Given the description of an element on the screen output the (x, y) to click on. 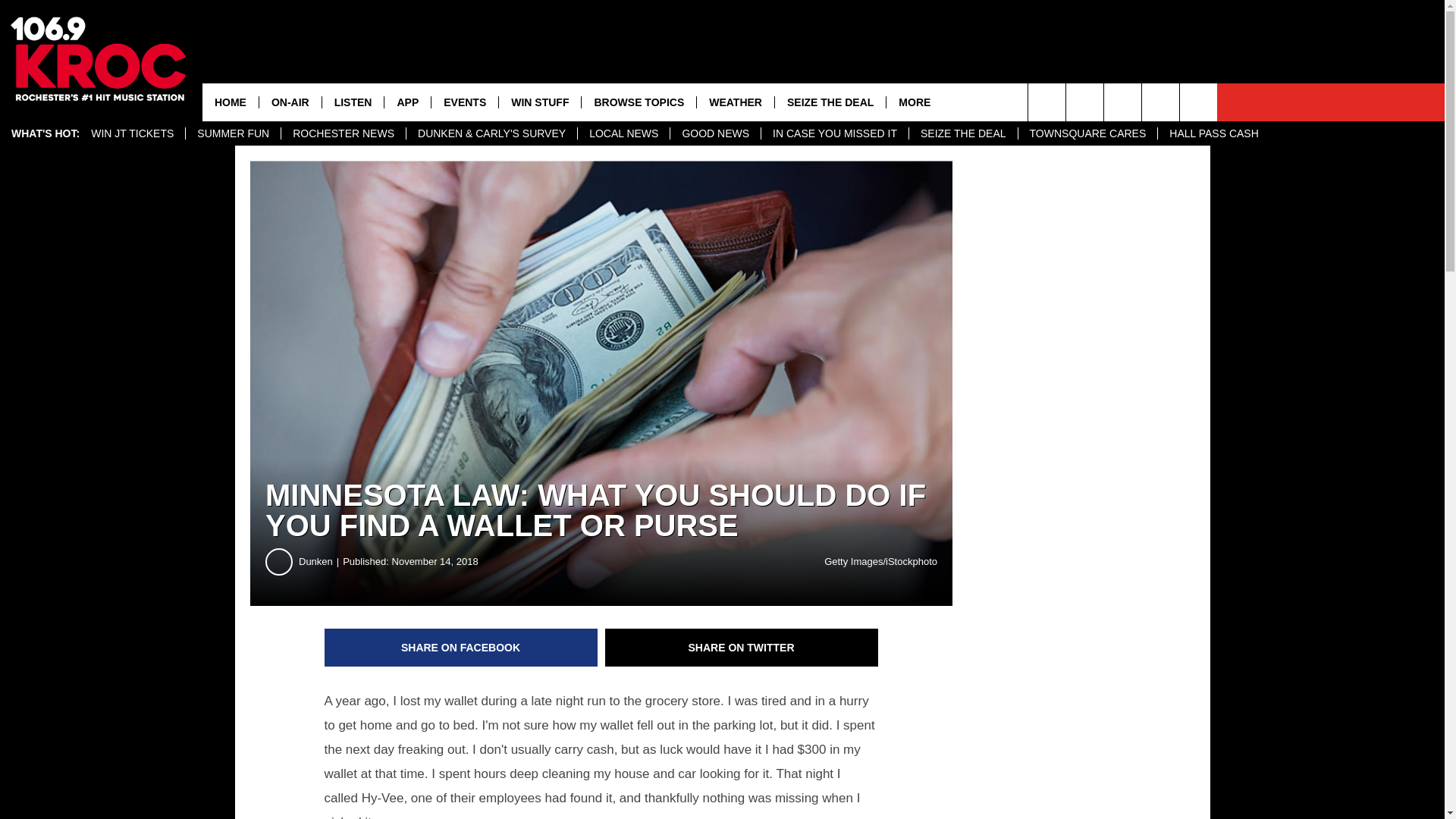
EVENTS (463, 102)
LISTEN (352, 102)
APP (407, 102)
LOCAL NEWS (622, 133)
WIN JT TICKETS (132, 133)
WIN STUFF (538, 102)
SEIZE THE DEAL (962, 133)
HOME (230, 102)
GOOD NEWS (714, 133)
HALL PASS CASH (1213, 133)
